Given the description of an element on the screen output the (x, y) to click on. 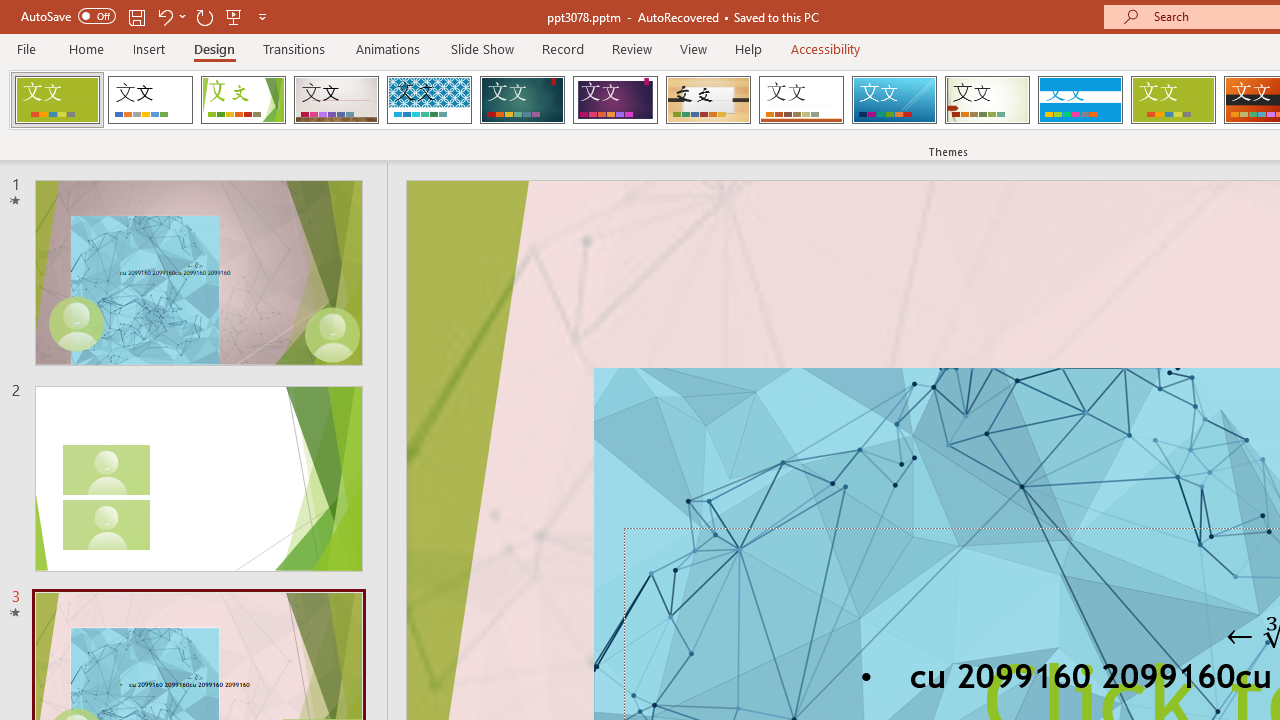
Facet (243, 100)
